Given the description of an element on the screen output the (x, y) to click on. 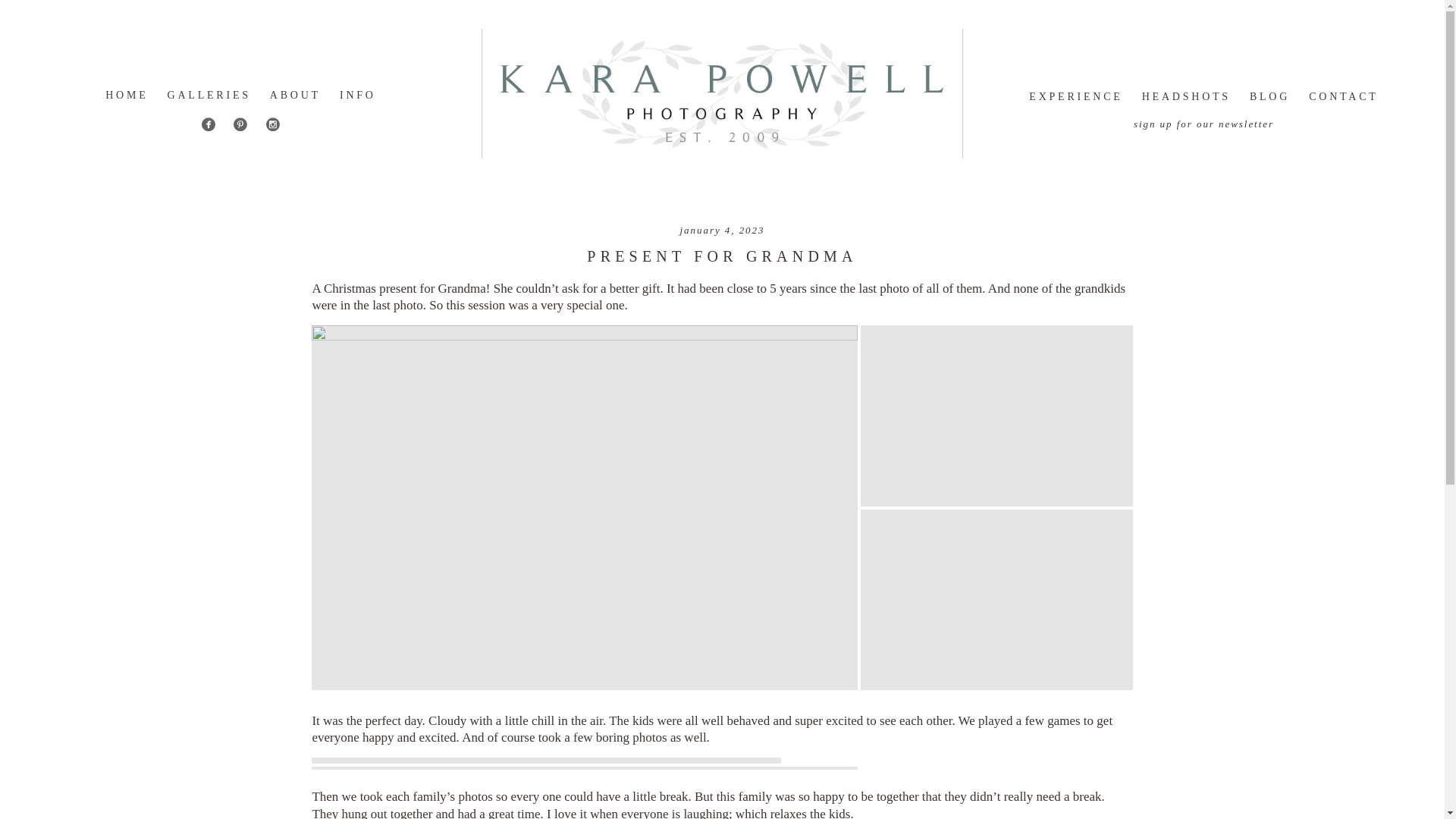
EXPERIENCE (1075, 96)
BLOG (1269, 96)
CONTACT (1342, 96)
ABOUT (294, 94)
GALLERIES (208, 94)
HEADSHOTS (1185, 96)
sign up for our newsletter (1204, 123)
INFO (357, 94)
HOME (126, 94)
